Given the description of an element on the screen output the (x, y) to click on. 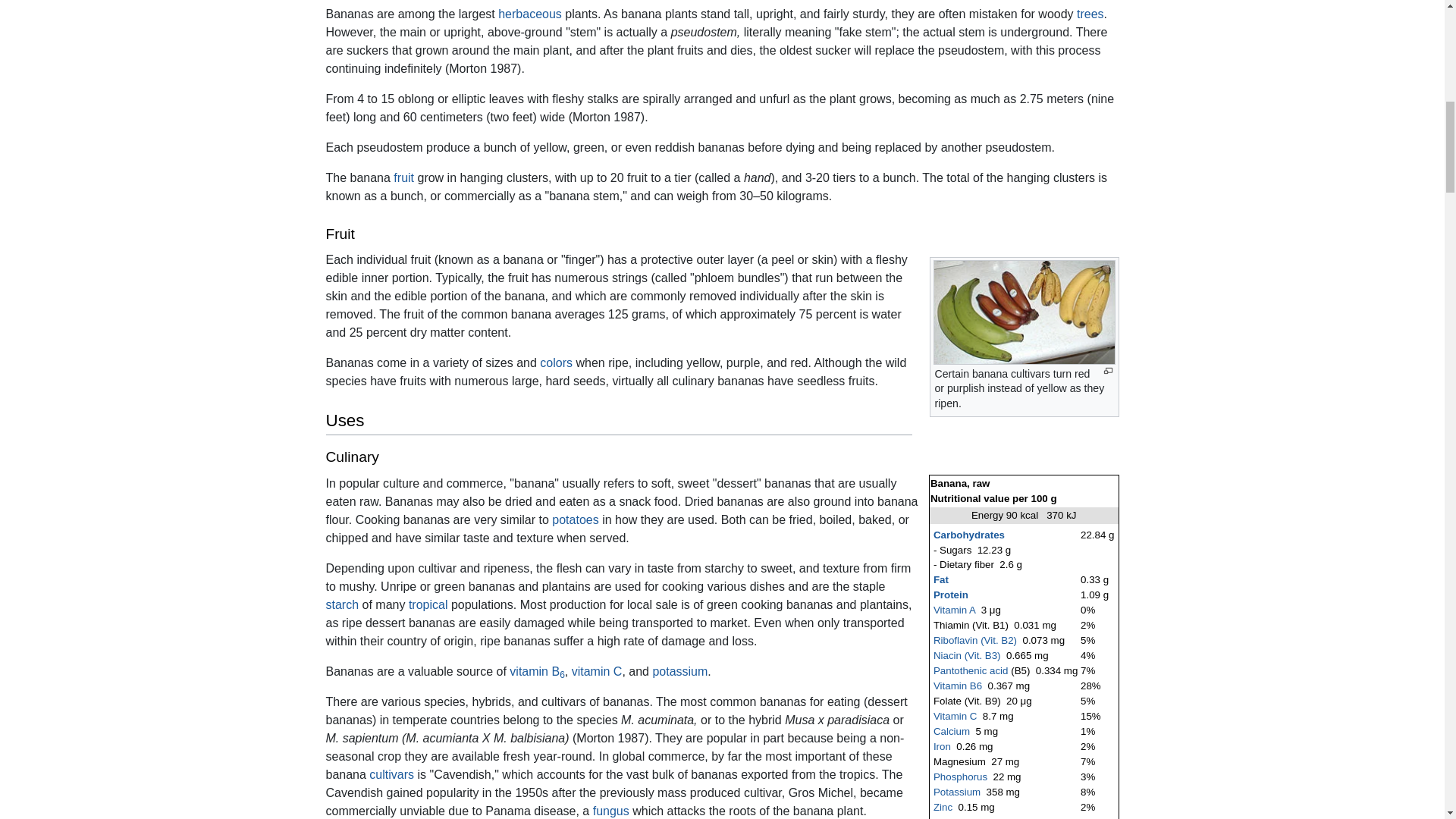
herbaceous (529, 13)
trees (1090, 13)
fruit (403, 177)
Herbaceous (529, 13)
Fruit (403, 177)
Tree (1090, 13)
